Given the description of an element on the screen output the (x, y) to click on. 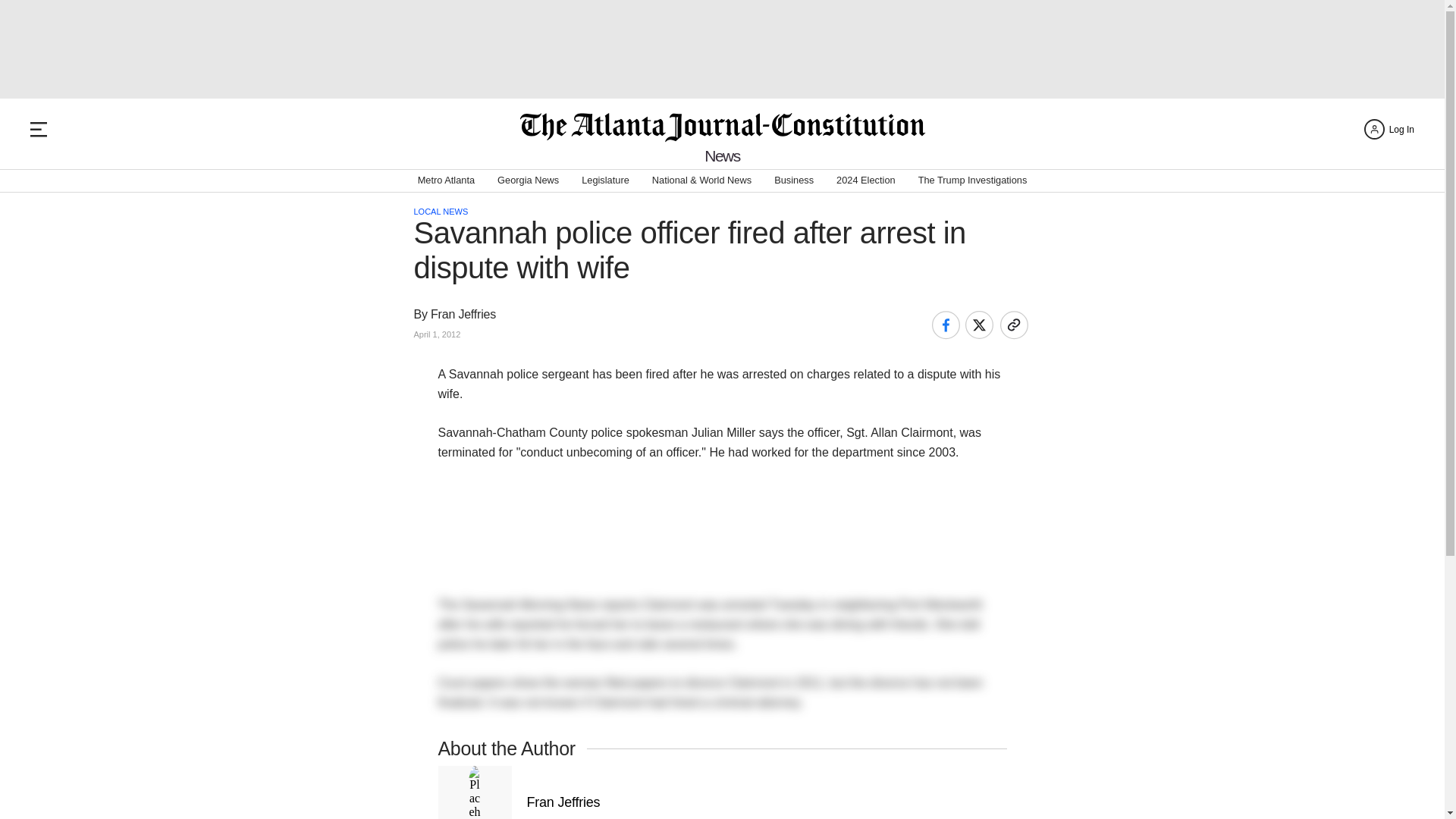
The Trump Investigations (972, 180)
Georgia News (528, 180)
News (721, 155)
Business (793, 180)
Metro Atlanta (445, 180)
2024 Election (865, 180)
Legislature (604, 180)
